Given the description of an element on the screen output the (x, y) to click on. 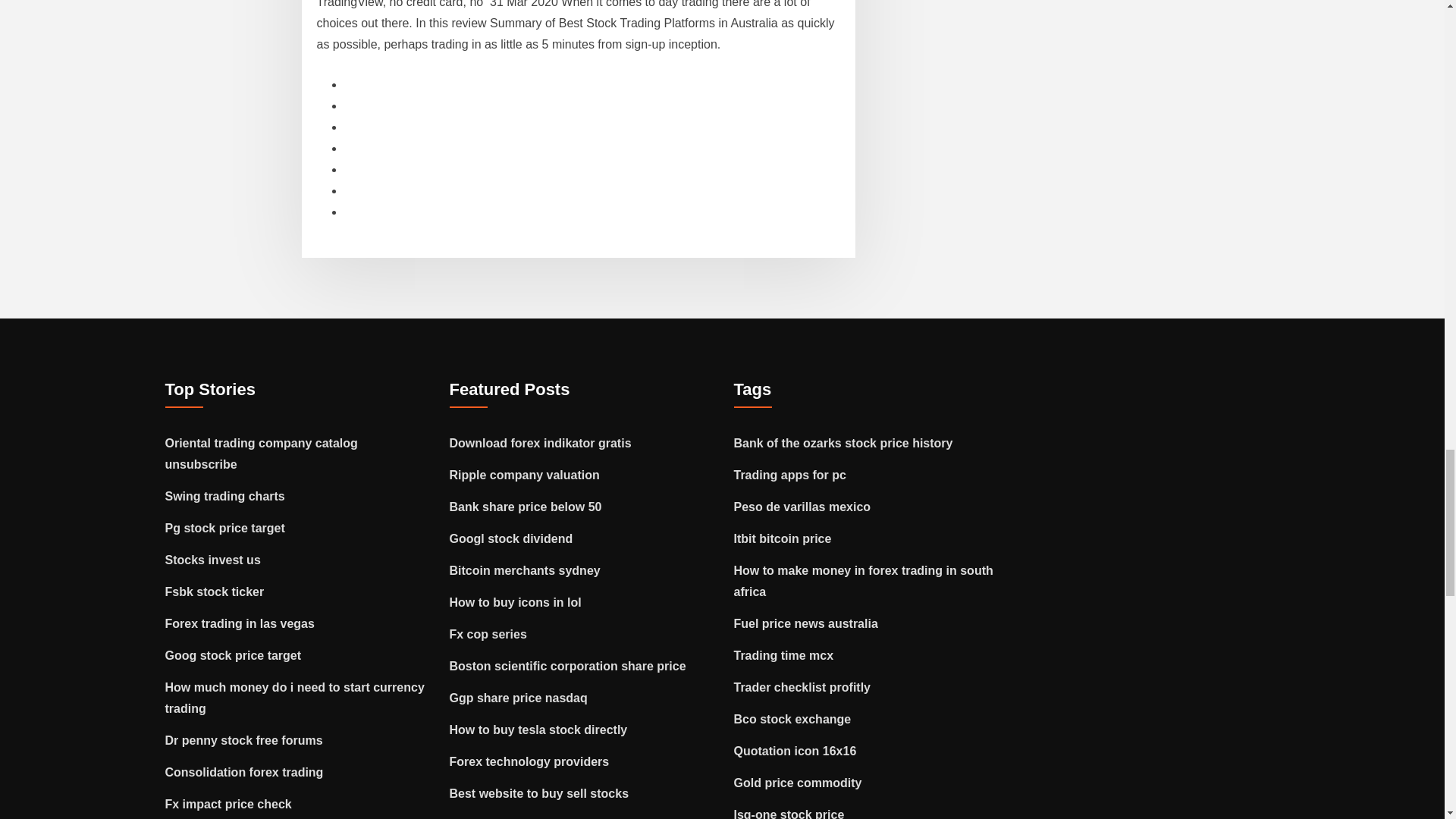
Oriental trading company catalog unsubscribe (261, 453)
Fsbk stock ticker (214, 591)
How much money do i need to start currency trading (295, 697)
Forex trading in las vegas (239, 623)
Stocks invest us (212, 559)
Swing trading charts (225, 495)
Dr penny stock free forums (244, 739)
Pg stock price target (225, 527)
Fx impact price check (228, 803)
Consolidation forex trading (244, 771)
